Given the description of an element on the screen output the (x, y) to click on. 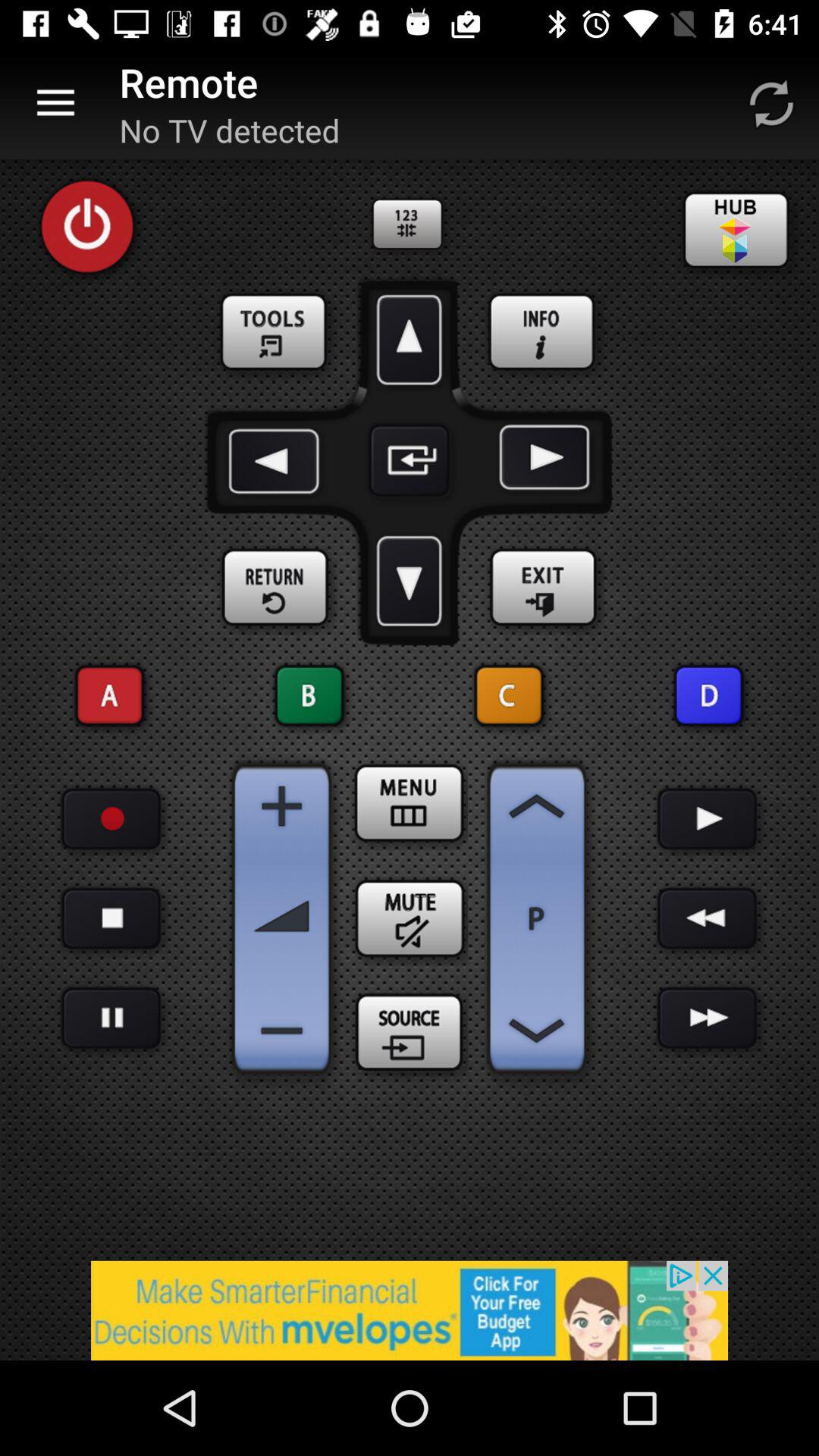
back option (536, 1031)
